Given the description of an element on the screen output the (x, y) to click on. 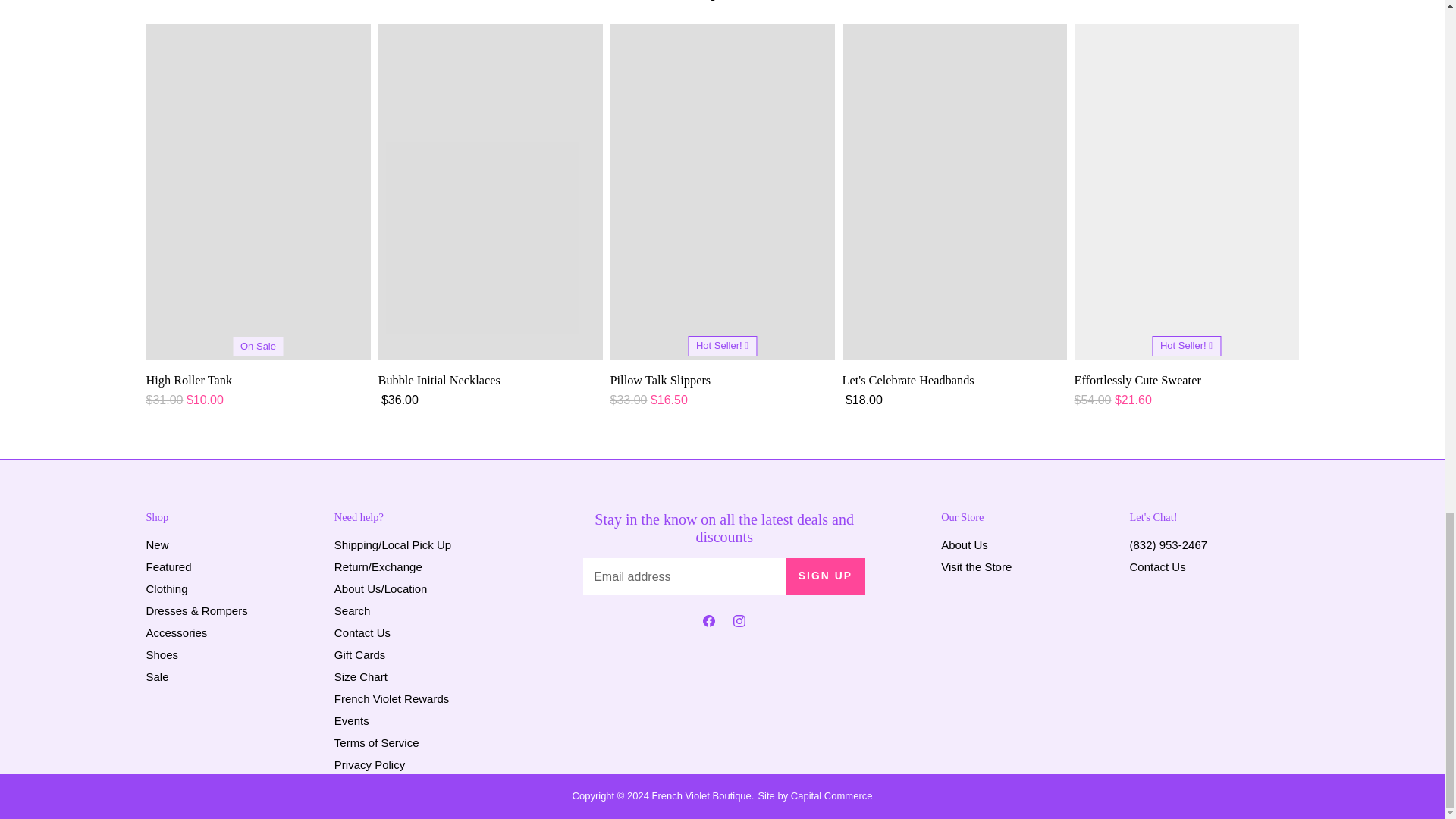
Instagram (738, 624)
Facebook (708, 624)
